Given the description of an element on the screen output the (x, y) to click on. 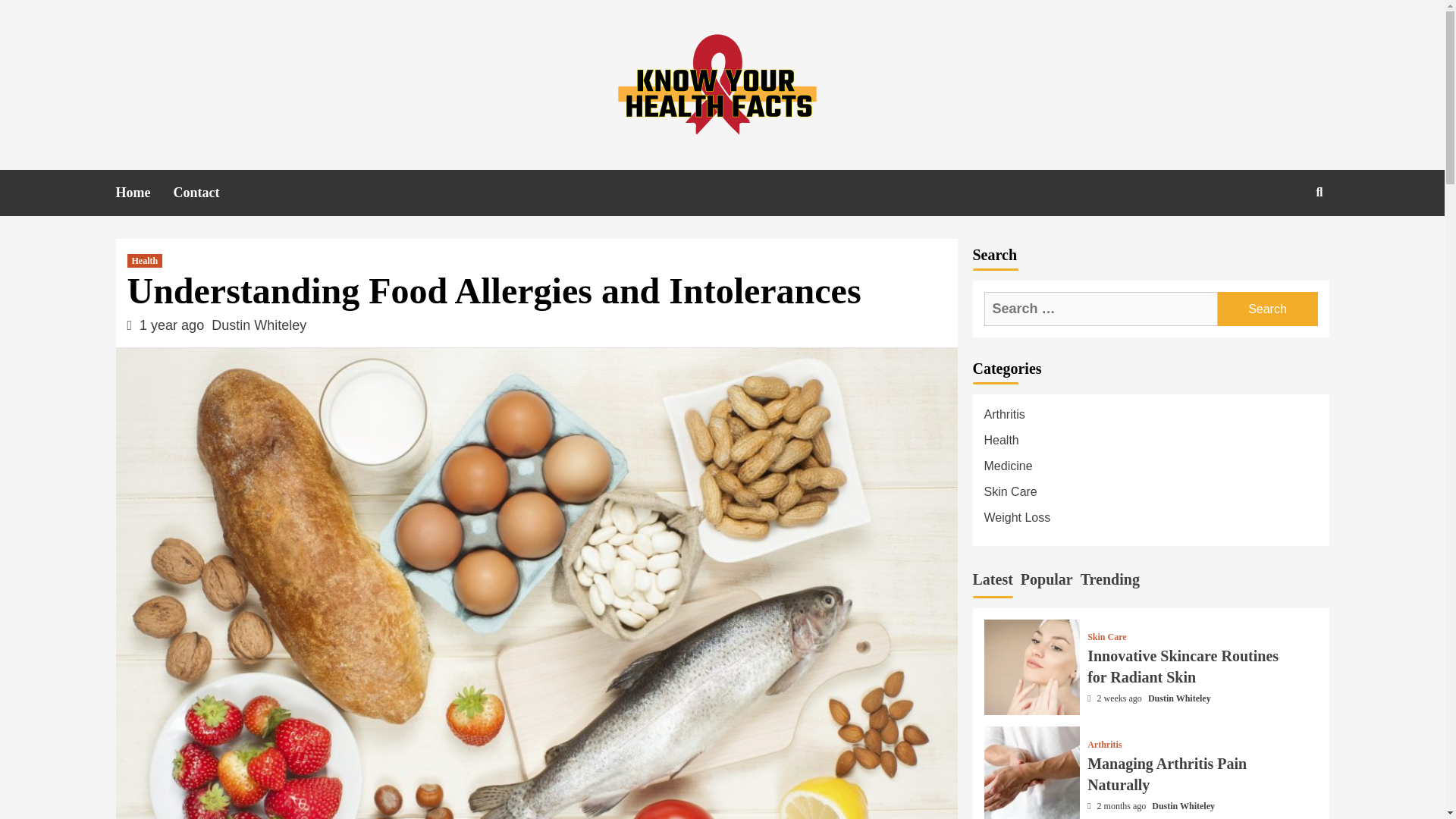
Health (145, 260)
Arthritis (1150, 418)
Home (144, 192)
Weight Loss (1150, 521)
Skin Care (1150, 495)
Medicine (1150, 470)
Health (1150, 444)
Search (1267, 308)
Dustin Whiteley (258, 324)
Contact (207, 192)
Search (1283, 241)
Search (1319, 192)
Search (1267, 308)
Search (1267, 308)
